Given the description of an element on the screen output the (x, y) to click on. 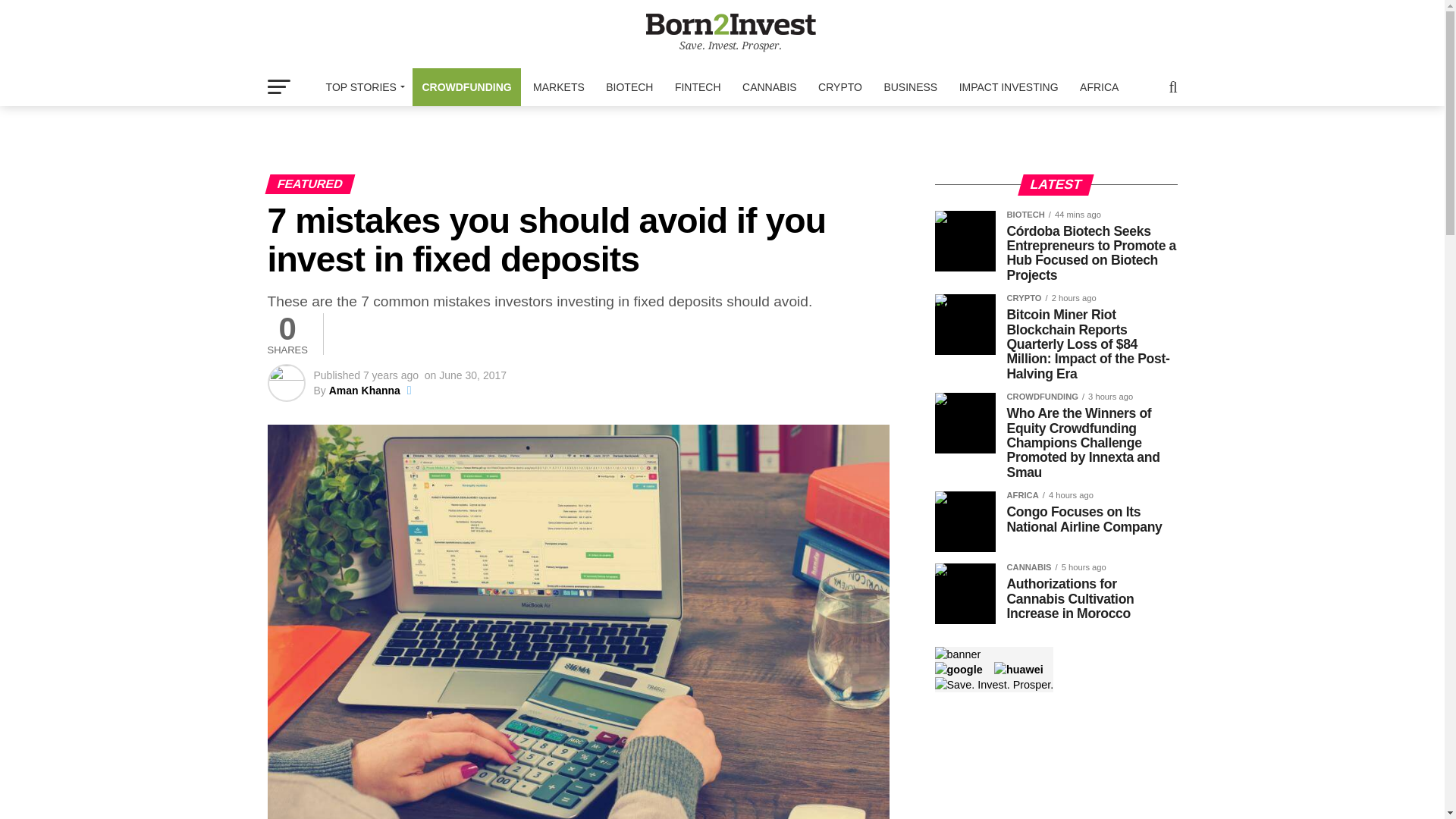
FINTECH (697, 86)
MARKETS (559, 86)
CROWDFUNDING (465, 86)
Posts by Aman Khanna (364, 390)
TOP STORIES (363, 86)
AFRICA (1098, 86)
Aman Khanna (364, 390)
BIOTECH (629, 86)
CANNABIS (769, 86)
Advertisement (1055, 766)
